Given the description of an element on the screen output the (x, y) to click on. 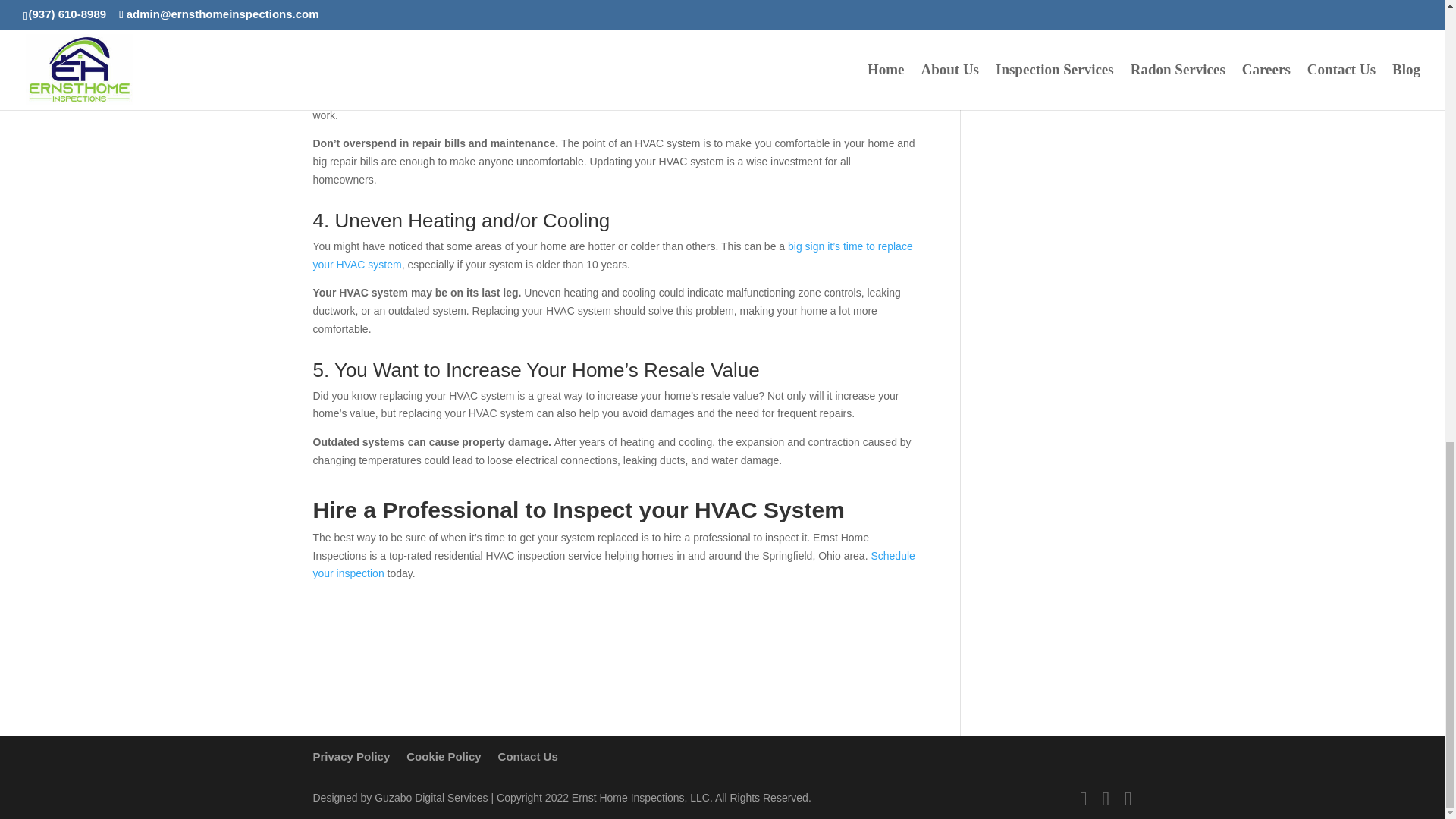
Cookie Policy (443, 756)
Schedule your inspection (613, 564)
Contact Us (527, 756)
Privacy Policy (351, 756)
